Given the description of an element on the screen output the (x, y) to click on. 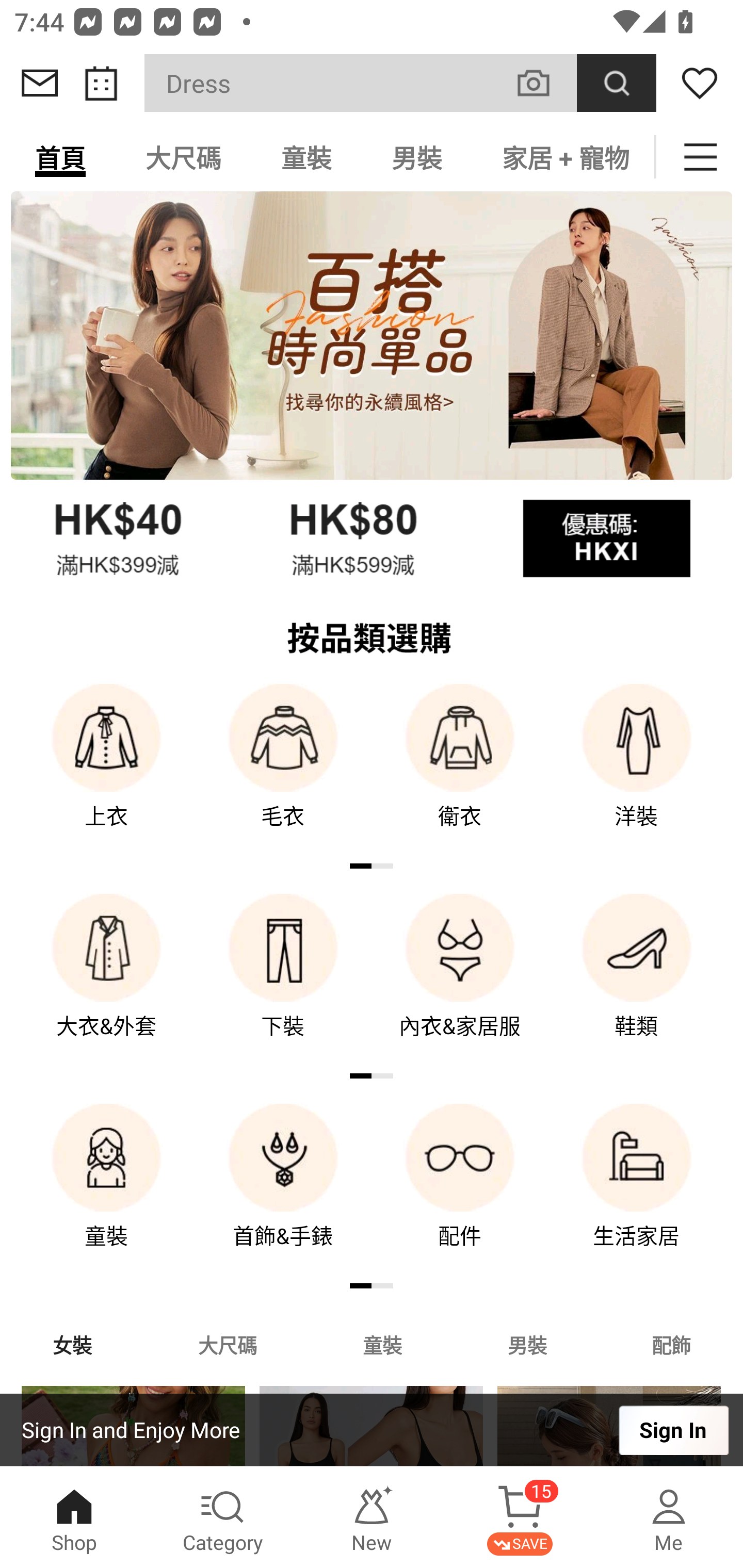
Wishlist (699, 82)
VISUAL SEARCH (543, 82)
首頁 (60, 156)
大尺碼 (183, 156)
童裝 (306, 156)
男裝 (416, 156)
家居 + 寵物 (563, 156)
上衣 (105, 769)
毛衣 (282, 769)
衛衣 (459, 769)
洋裝 (636, 769)
大衣&外套 (105, 979)
下裝 (282, 979)
內衣&家居服 (459, 979)
鞋類 (636, 979)
童裝 (105, 1189)
首飾&手錶 (282, 1189)
配件 (459, 1189)
生活家居 (636, 1189)
女裝 (72, 1344)
大尺碼 (226, 1344)
童裝 (381, 1344)
男裝 (527, 1344)
配飾 (671, 1344)
Sign In and Enjoy More Sign In (371, 1429)
Category (222, 1517)
New (371, 1517)
Cart 15 SAVE (519, 1517)
Me (668, 1517)
